Given the description of an element on the screen output the (x, y) to click on. 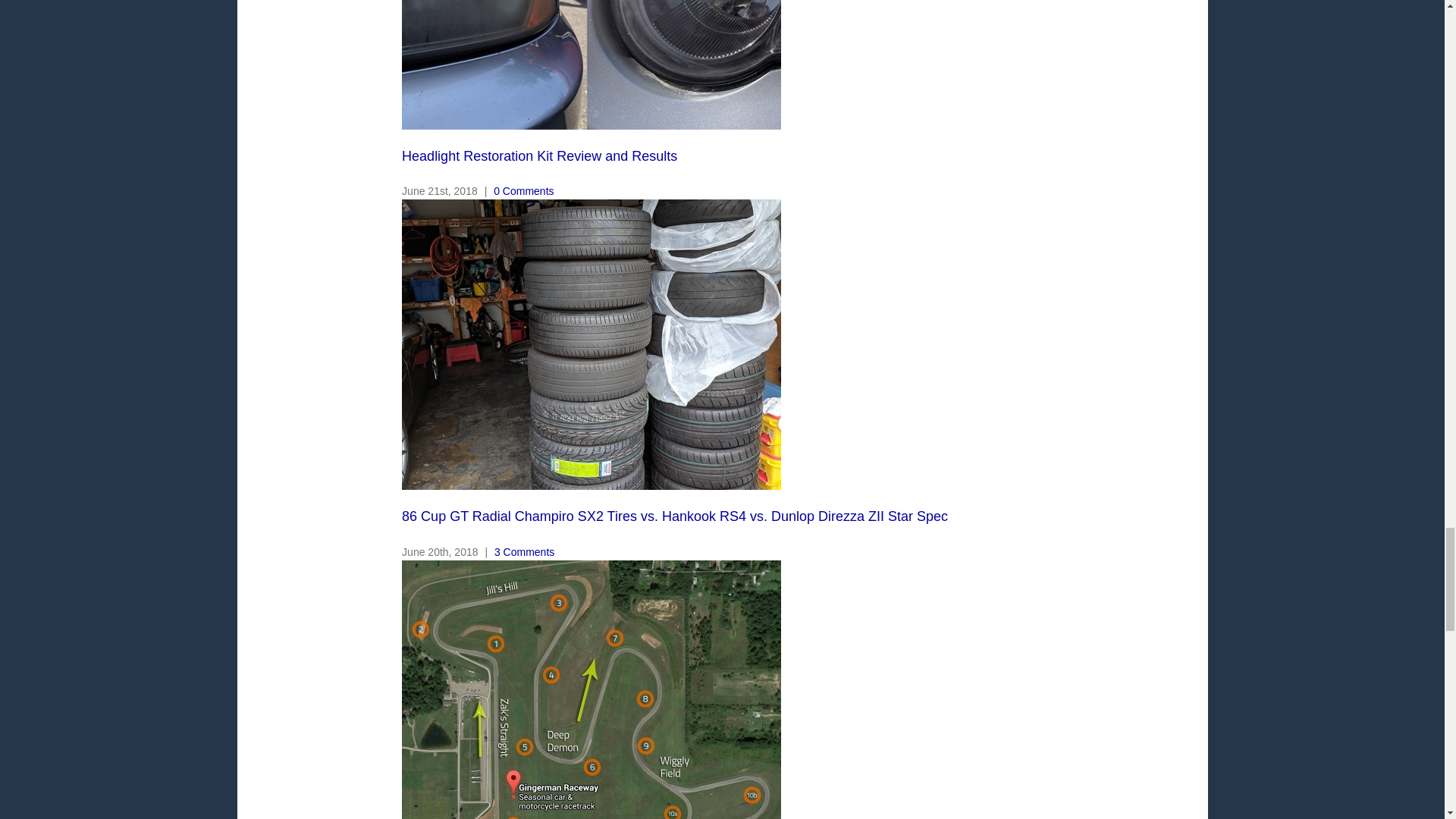
Headlight Restoration Kit Review and Results (539, 155)
Headlight Restoration Kit Review and Results (539, 155)
3 Comments (524, 551)
0 Comments (523, 191)
